Given the description of an element on the screen output the (x, y) to click on. 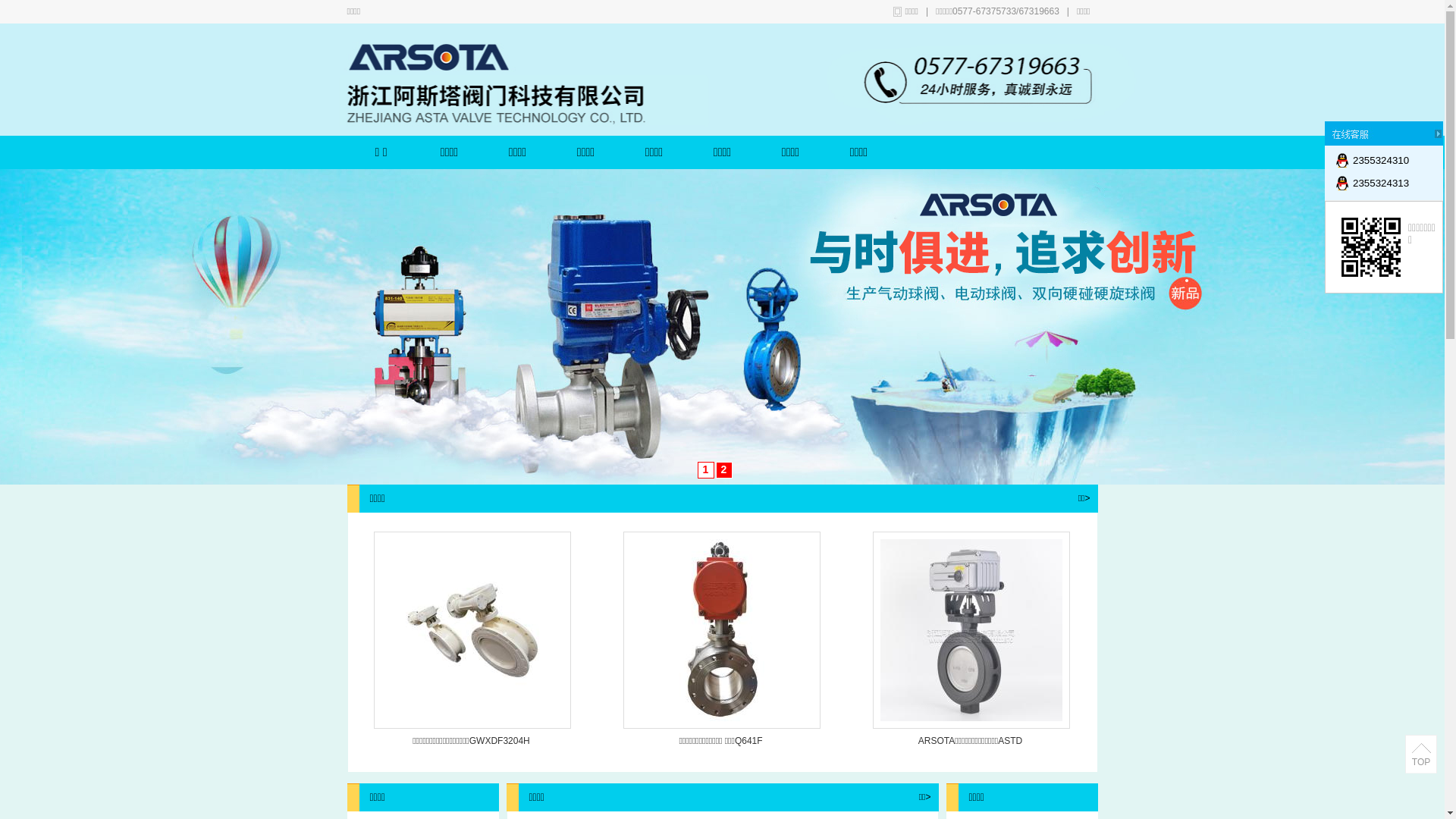
TOP Element type: text (1420, 761)
TOP Element type: text (1420, 754)
